Given the description of an element on the screen output the (x, y) to click on. 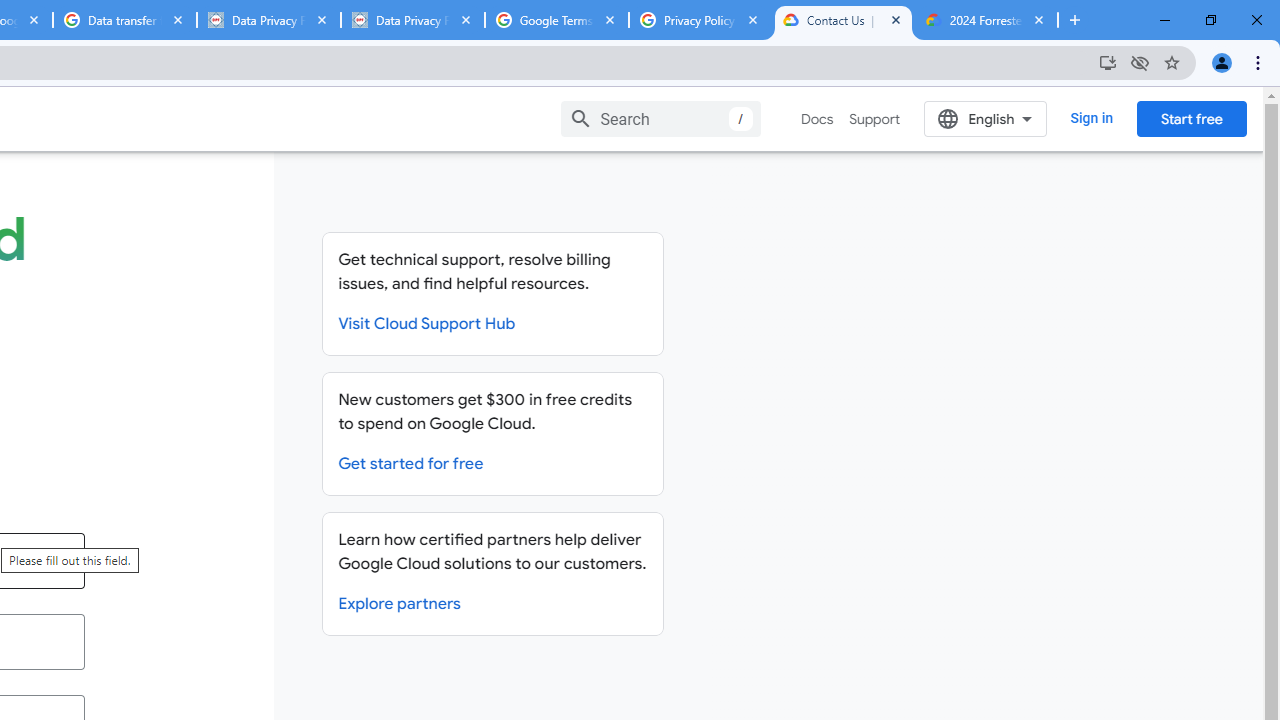
Data Privacy Framework (412, 20)
Start free (1191, 118)
Install Google Cloud (1107, 62)
English (985, 118)
